Given the description of an element on the screen output the (x, y) to click on. 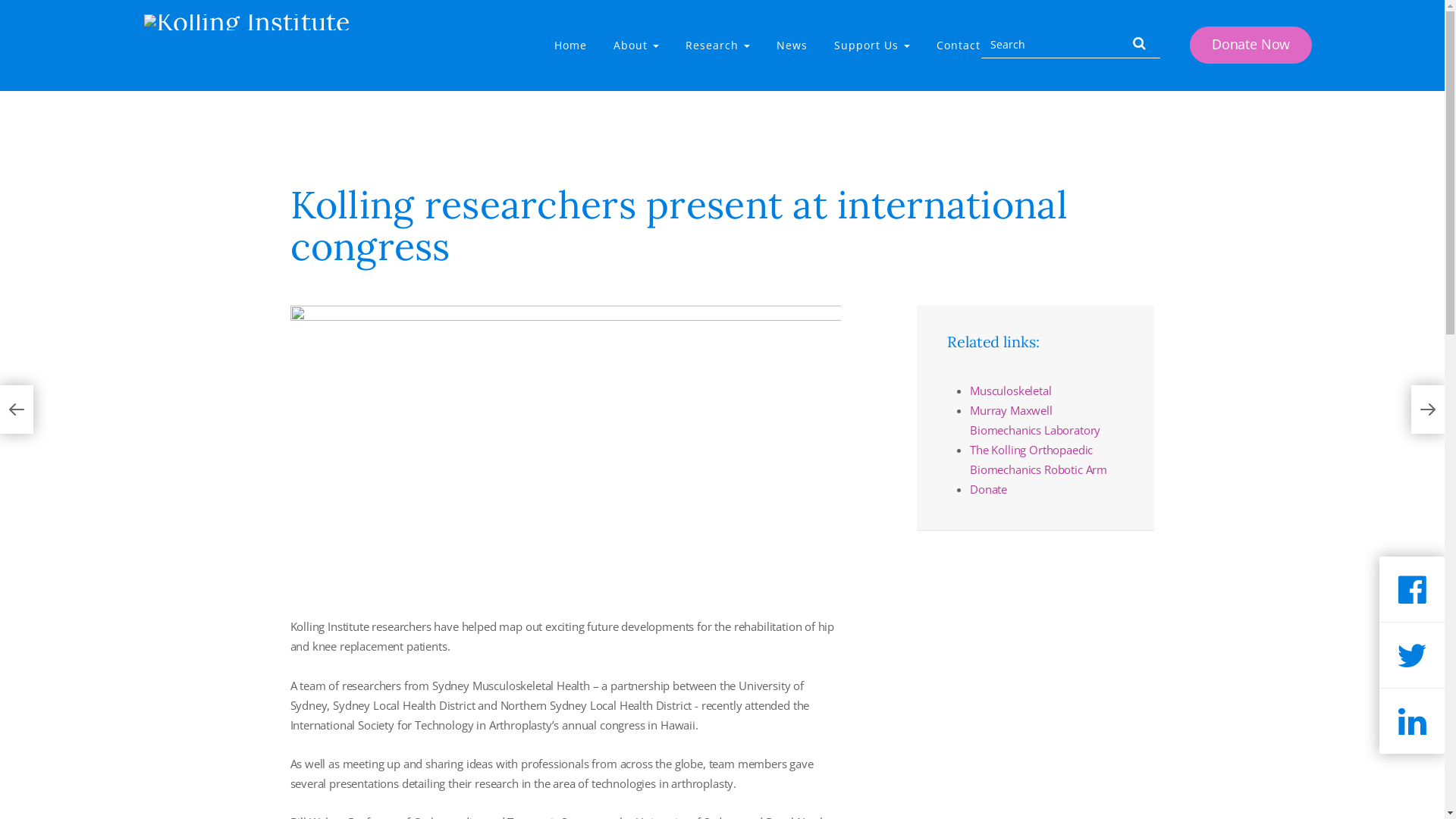
The Kolling Orthopaedic Biomechanics Robotic Arm Element type: text (1038, 459)
News Element type: text (792, 45)
Musculoskeletal Element type: text (1010, 390)
Contact Element type: text (958, 45)
Donate Element type: text (988, 488)
Donate Now Element type: text (1250, 44)
Support Us Element type: text (871, 45)
About Element type: text (636, 45)
Murray Maxwell Biomechanics Laboratory Element type: text (1034, 419)
Research Element type: text (717, 45)
Home Element type: text (570, 45)
